Given the description of an element on the screen output the (x, y) to click on. 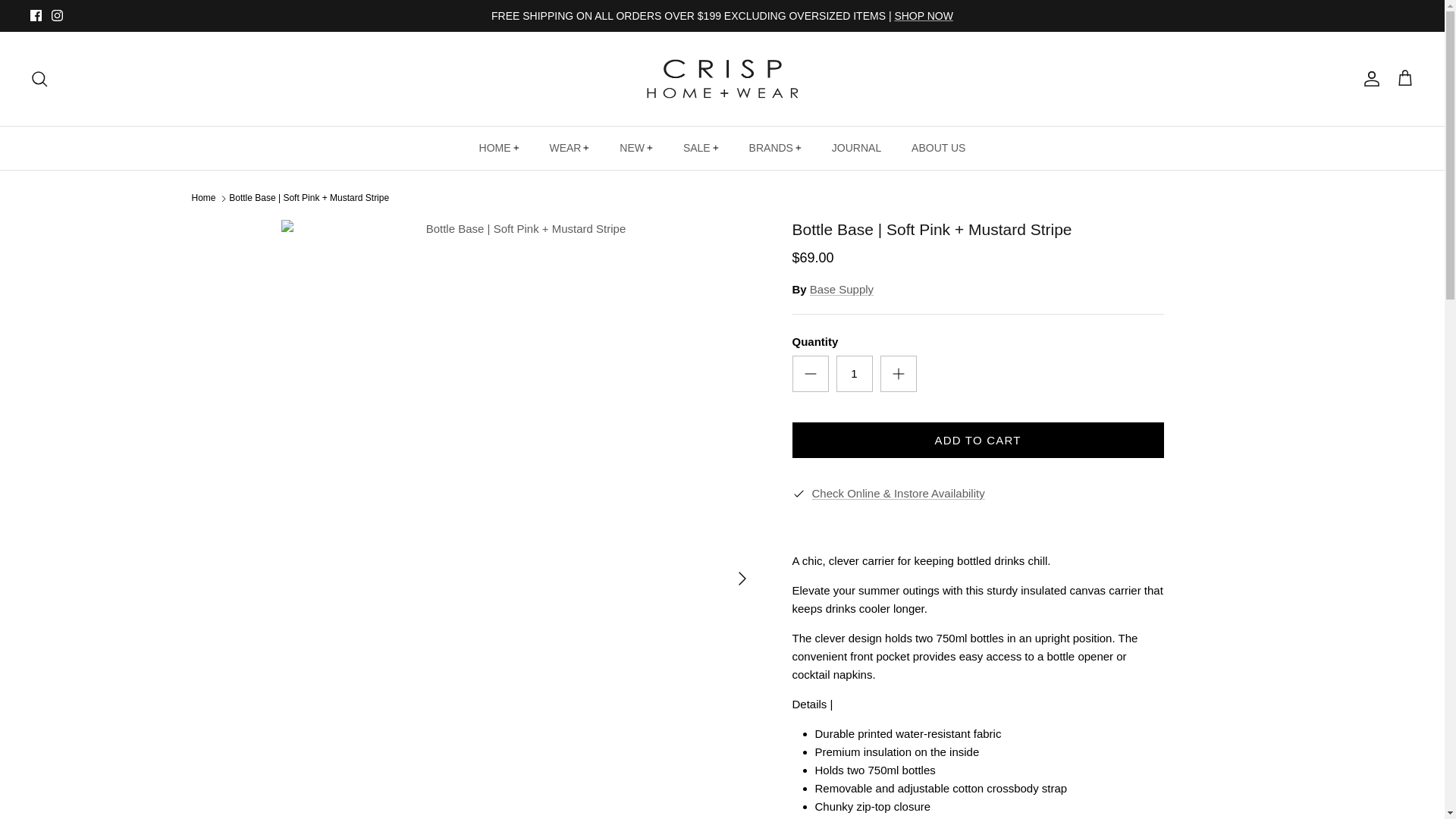
1 (853, 373)
Search (39, 78)
RIGHT (741, 578)
Cart (1404, 78)
Facebook (36, 15)
Plus (897, 373)
All collections (923, 15)
SHOP NOW (923, 15)
Instagram (56, 15)
Facebook (36, 15)
